Given the description of an element on the screen output the (x, y) to click on. 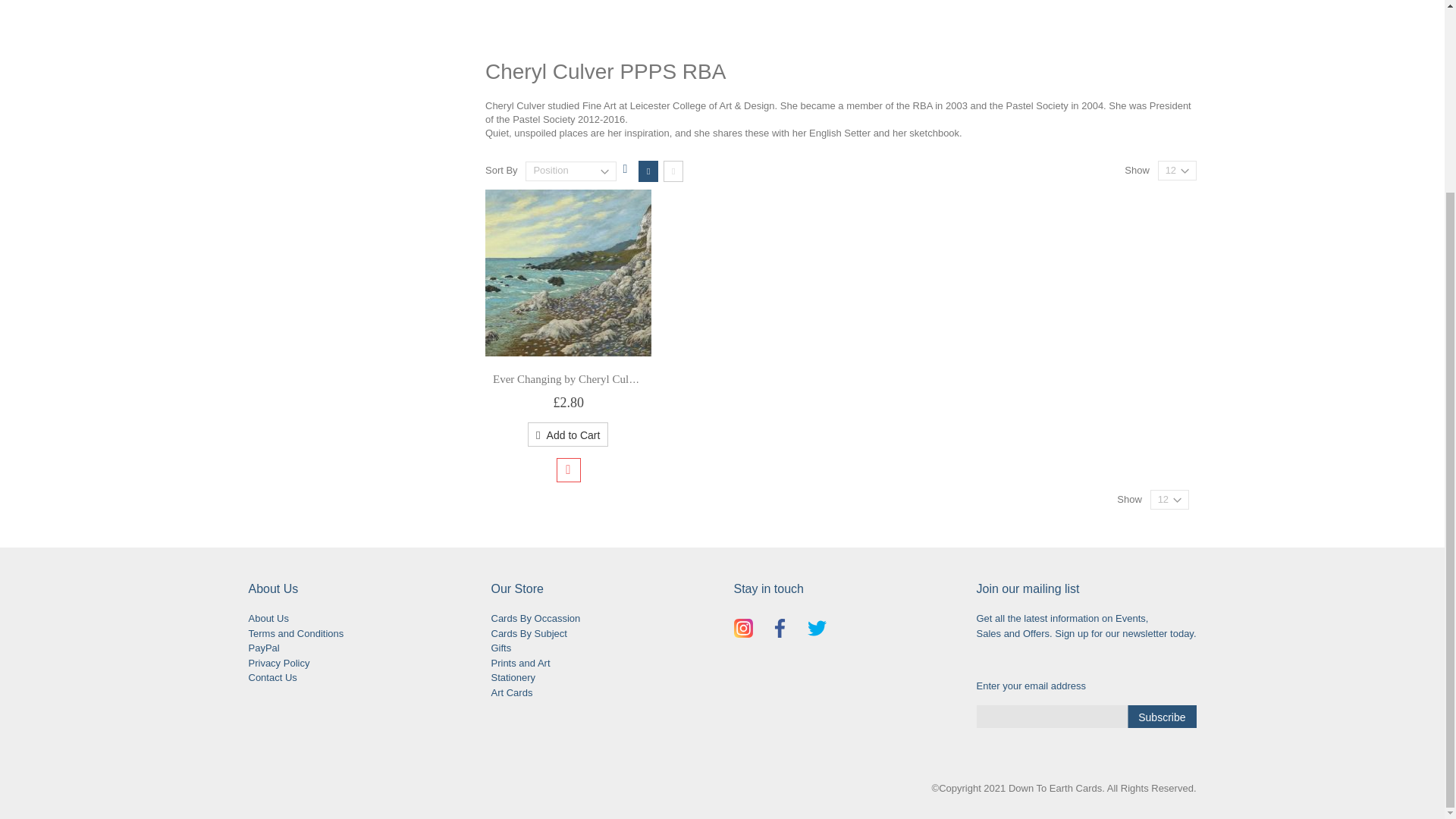
Add to Cart (567, 434)
Subscribe (1160, 716)
Grid (648, 170)
List (672, 170)
Add to Wish List (568, 469)
